Given the description of an element on the screen output the (x, y) to click on. 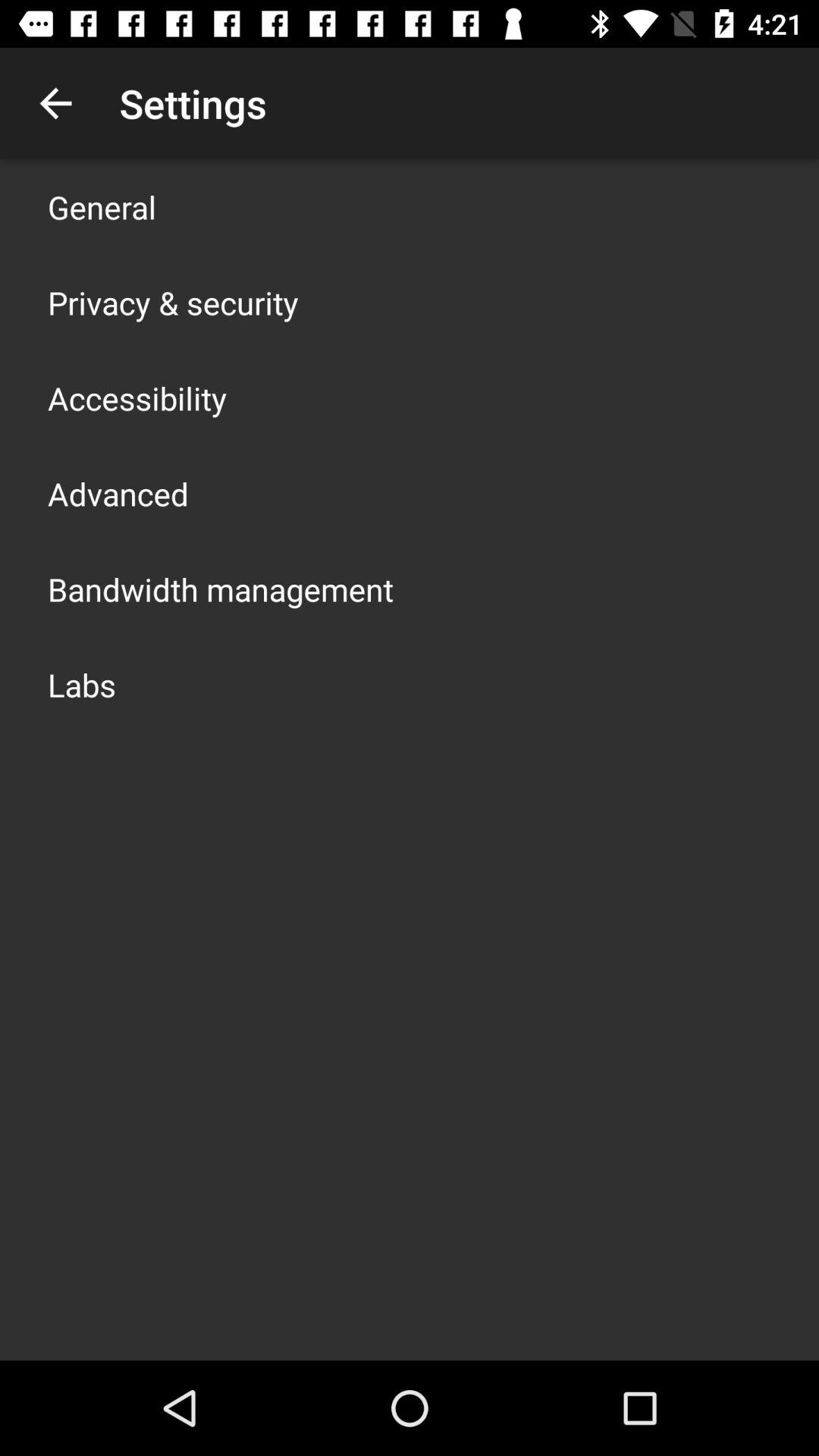
click the advanced icon (117, 493)
